Given the description of an element on the screen output the (x, y) to click on. 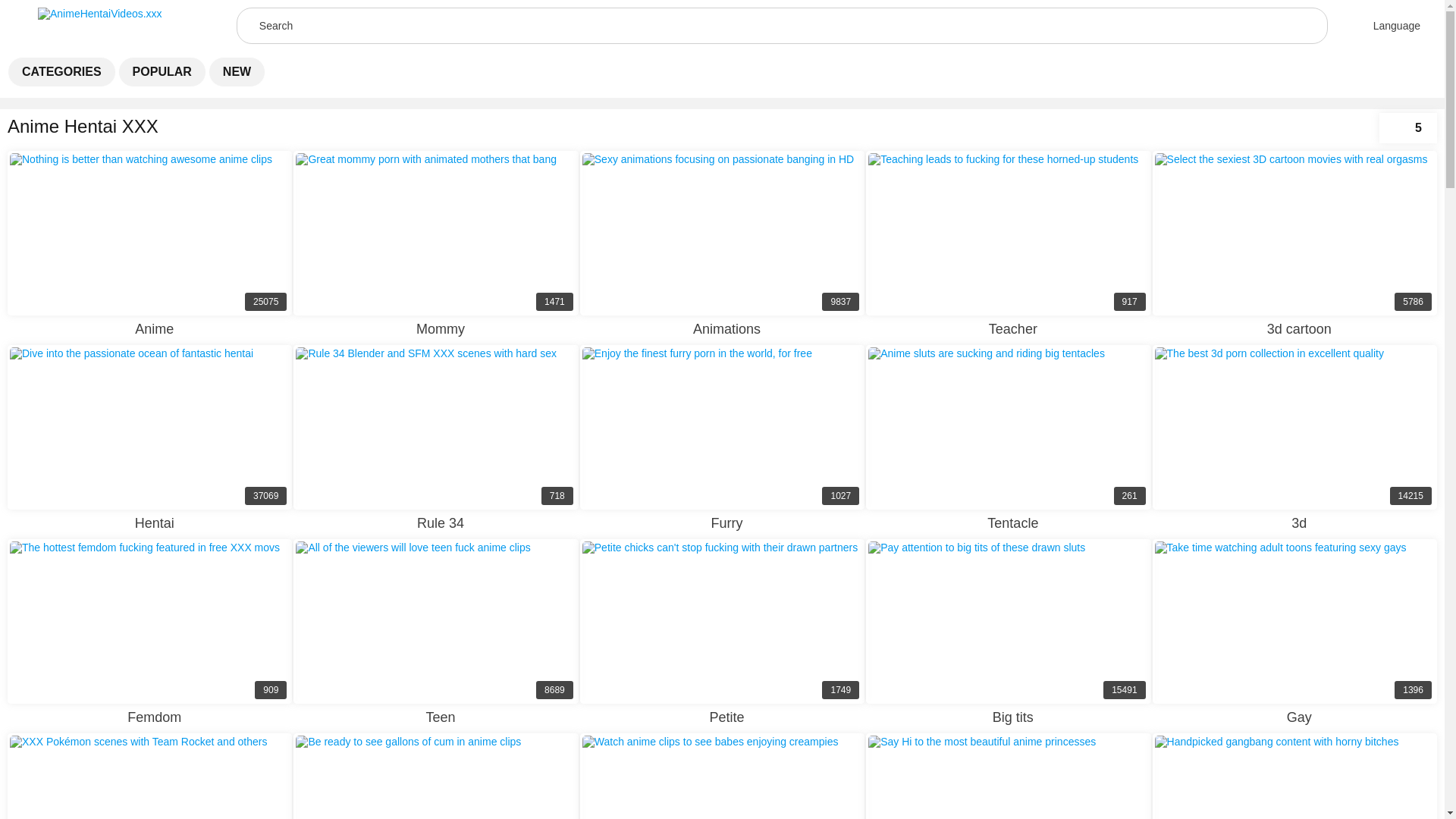
New (236, 71)
NEW (236, 71)
CATEGORIES (61, 71)
Categories (436, 243)
Popular (149, 243)
5 (61, 71)
POPULAR (161, 71)
